Given the description of an element on the screen output the (x, y) to click on. 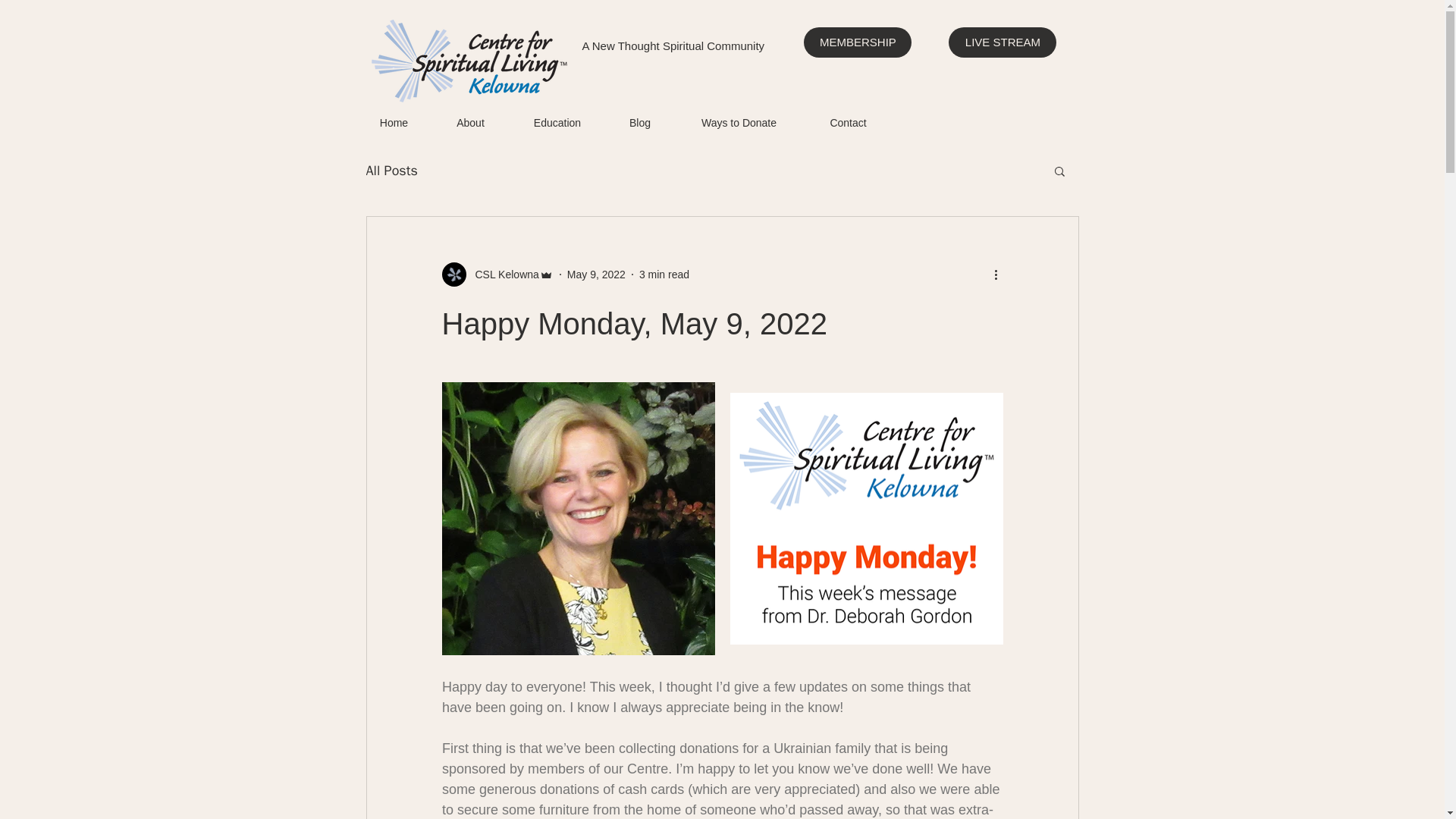
About (470, 119)
All Posts (390, 170)
Blog (640, 119)
Ways to Donate (737, 119)
CSL Kelowna (501, 274)
CSL Kelowna (497, 274)
May 9, 2022 (596, 274)
Education (556, 119)
Home (393, 119)
MEMBERSHIP (857, 42)
